Given the description of an element on the screen output the (x, y) to click on. 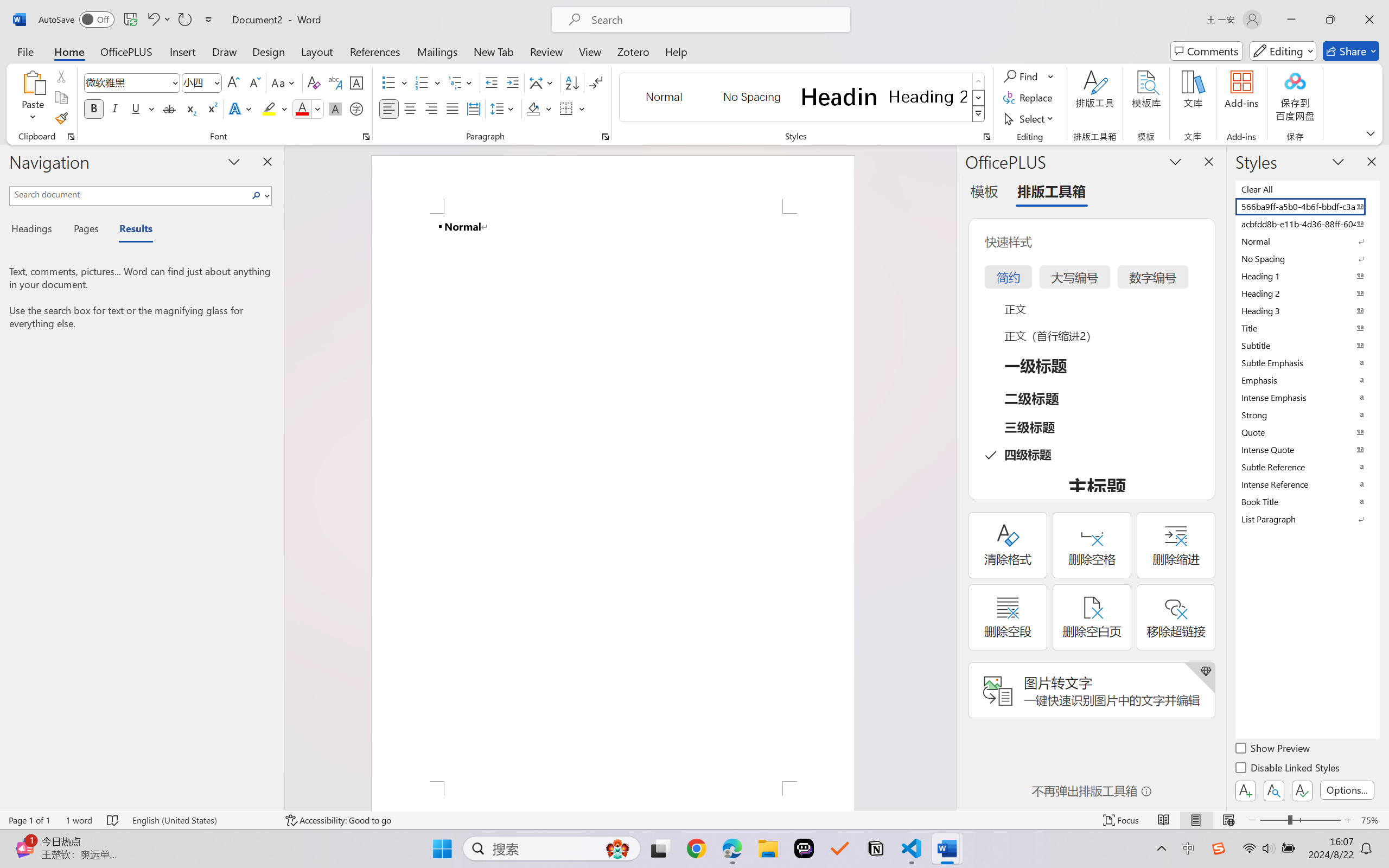
Distributed (473, 108)
Replace... (1029, 97)
Subtitle (1306, 345)
Select (1030, 118)
Line and Paragraph Spacing (503, 108)
Intense Quote (1306, 449)
Bullets (388, 82)
Class: MsoCommandBar (694, 819)
Results (130, 229)
Restore Down (1330, 19)
Character Border (356, 82)
Shrink Font (253, 82)
Save (130, 19)
